Given the description of an element on the screen output the (x, y) to click on. 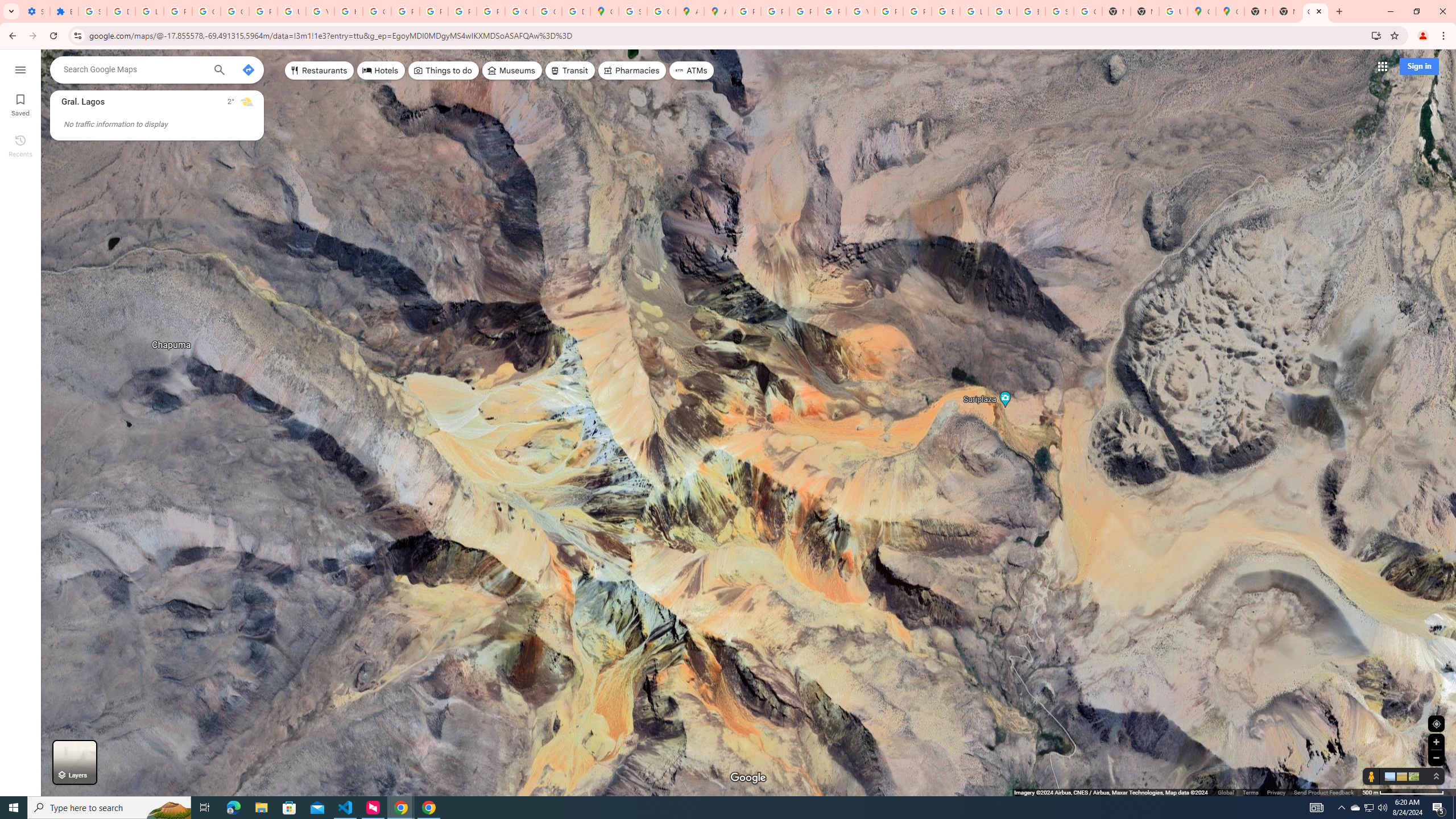
Things to do (443, 70)
https://scholar.google.com/ (348, 11)
Directions (247, 69)
Learn how to find your photos - Google Photos Help (148, 11)
Zoom out (1436, 757)
